Given the description of an element on the screen output the (x, y) to click on. 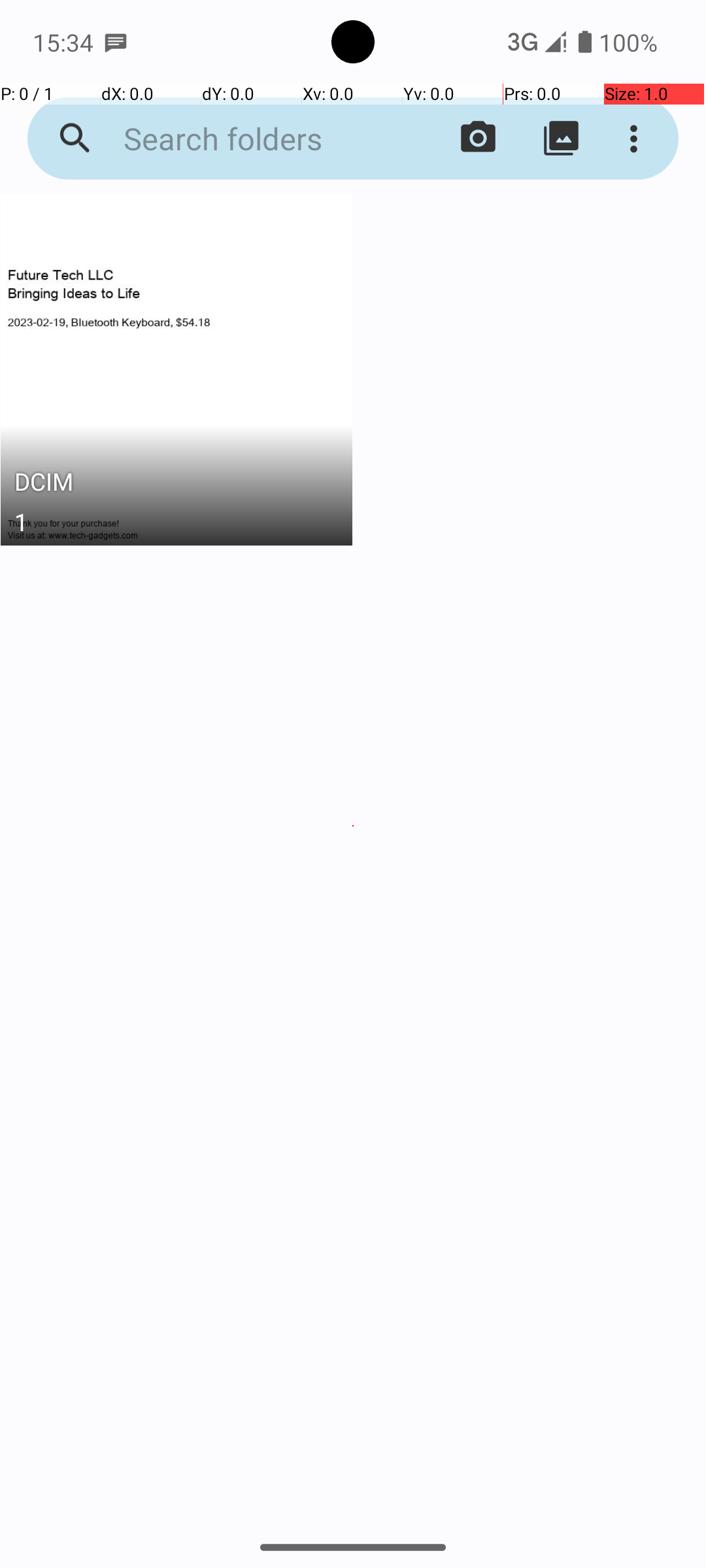
Open camera Element type: android.widget.Button (477, 138)
Show all folders content Element type: android.widget.Button (560, 138)
DCIM Element type: android.widget.TextView (176, 484)
